Given the description of an element on the screen output the (x, y) to click on. 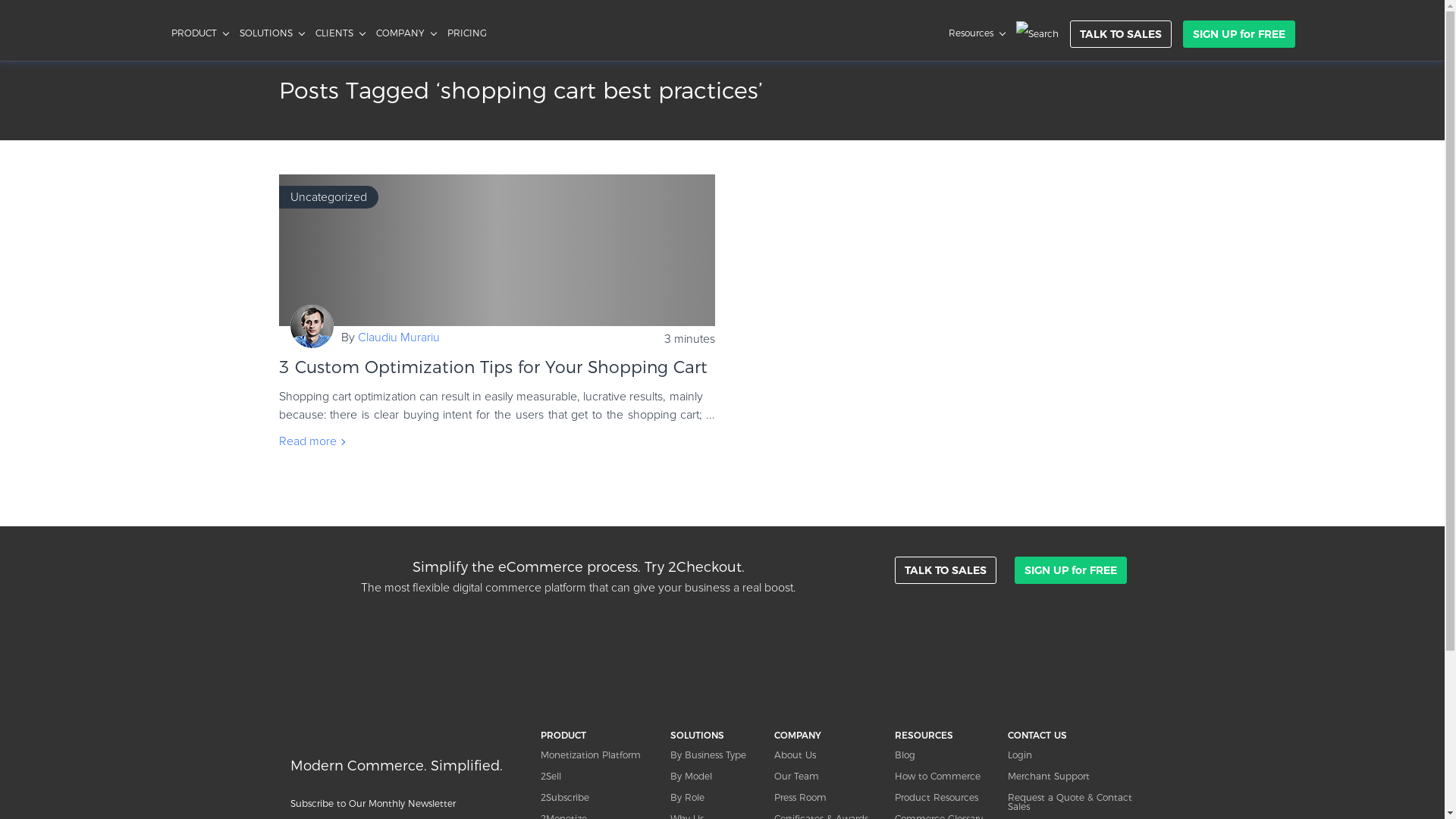
COMPANY Element type: text (826, 735)
Claudiu Murariu Element type: text (398, 336)
SOLUTIONS Element type: text (271, 33)
PRODUCT Element type: text (596, 735)
Request a Quote & Contact Sales Element type: text (1080, 802)
PRODUCT Element type: text (199, 33)
TALK TO SALES Element type: text (1119, 33)
Blog Element type: text (941, 754)
Merchant Support Element type: text (1080, 776)
SIGN UP for FREE Element type: text (1070, 569)
Product Resources Element type: text (941, 797)
By Business Type Element type: text (713, 754)
Press Room Element type: text (826, 797)
TALK TO SALES Element type: text (945, 569)
3 Custom Optimization Tips for Your Shopping Cart Element type: text (493, 366)
SOLUTIONS Element type: text (713, 735)
By Role Element type: text (713, 797)
RESOURCES Element type: text (941, 735)
3 Custom Optimization Tips for Your Shopping Cart Element type: hover (497, 250)
Read more Element type: text (315, 441)
About Us Element type: text (826, 754)
Resources Element type: text (975, 33)
Our Team Element type: text (826, 776)
SIGN UP for FREE Element type: text (1239, 33)
2Subscribe Element type: text (596, 797)
Login Element type: text (1080, 754)
By Model Element type: text (713, 776)
How to Commerce Element type: text (941, 776)
2Sell Element type: text (596, 776)
CONTACT US Element type: text (1080, 735)
PRICING Element type: text (466, 33)
CLIENTS Element type: text (339, 33)
Monetization Platform Element type: text (596, 754)
COMPANY Element type: text (406, 33)
